Given the description of an element on the screen output the (x, y) to click on. 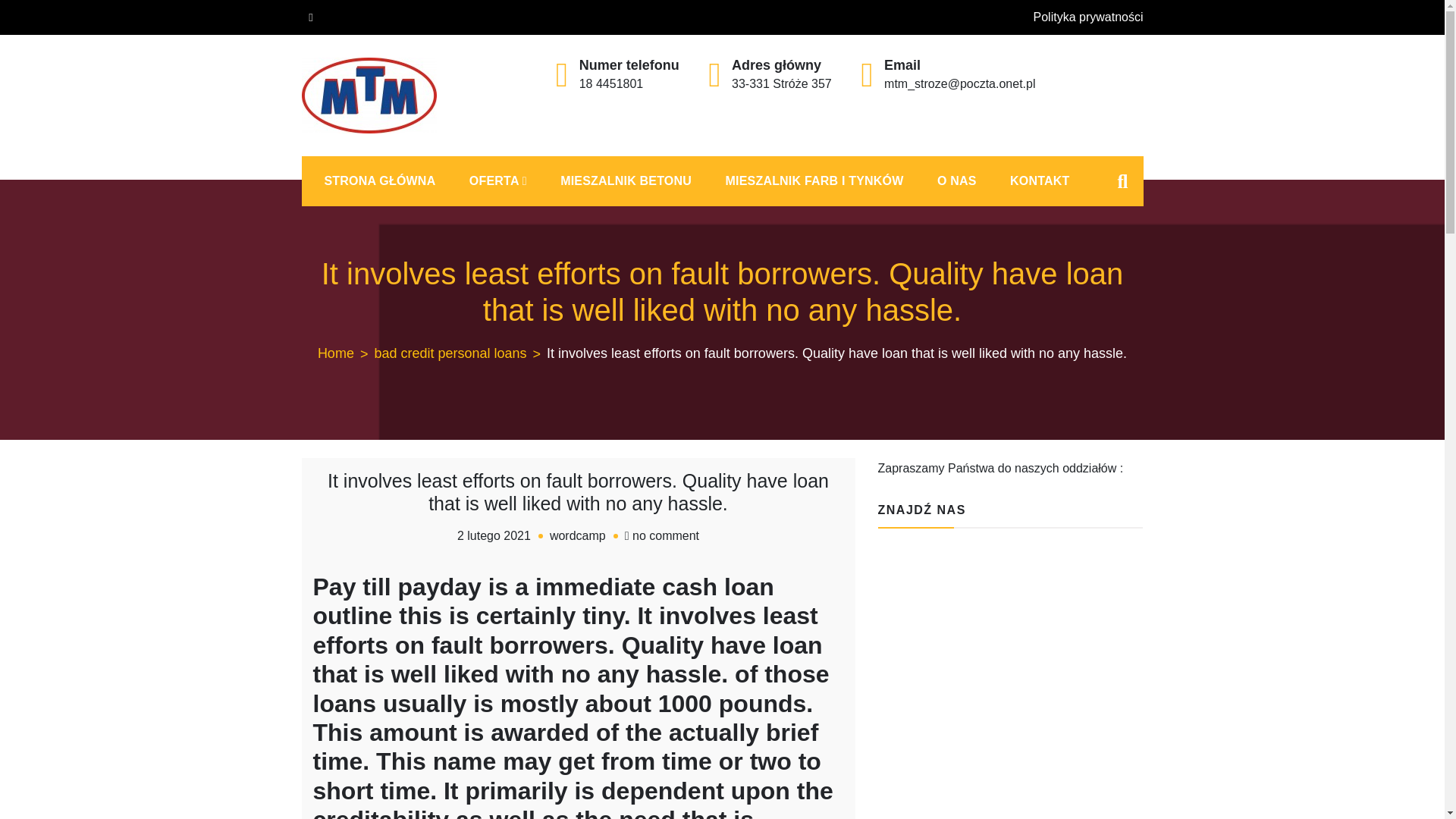
O NAS (956, 181)
KONTAKT (1039, 181)
MIESZALNIK BETONU (625, 181)
MTM (332, 149)
2 lutego 2021 (494, 535)
bad credit personal loans (460, 353)
wordcamp (577, 535)
18 4451801 (611, 83)
